Given the description of an element on the screen output the (x, y) to click on. 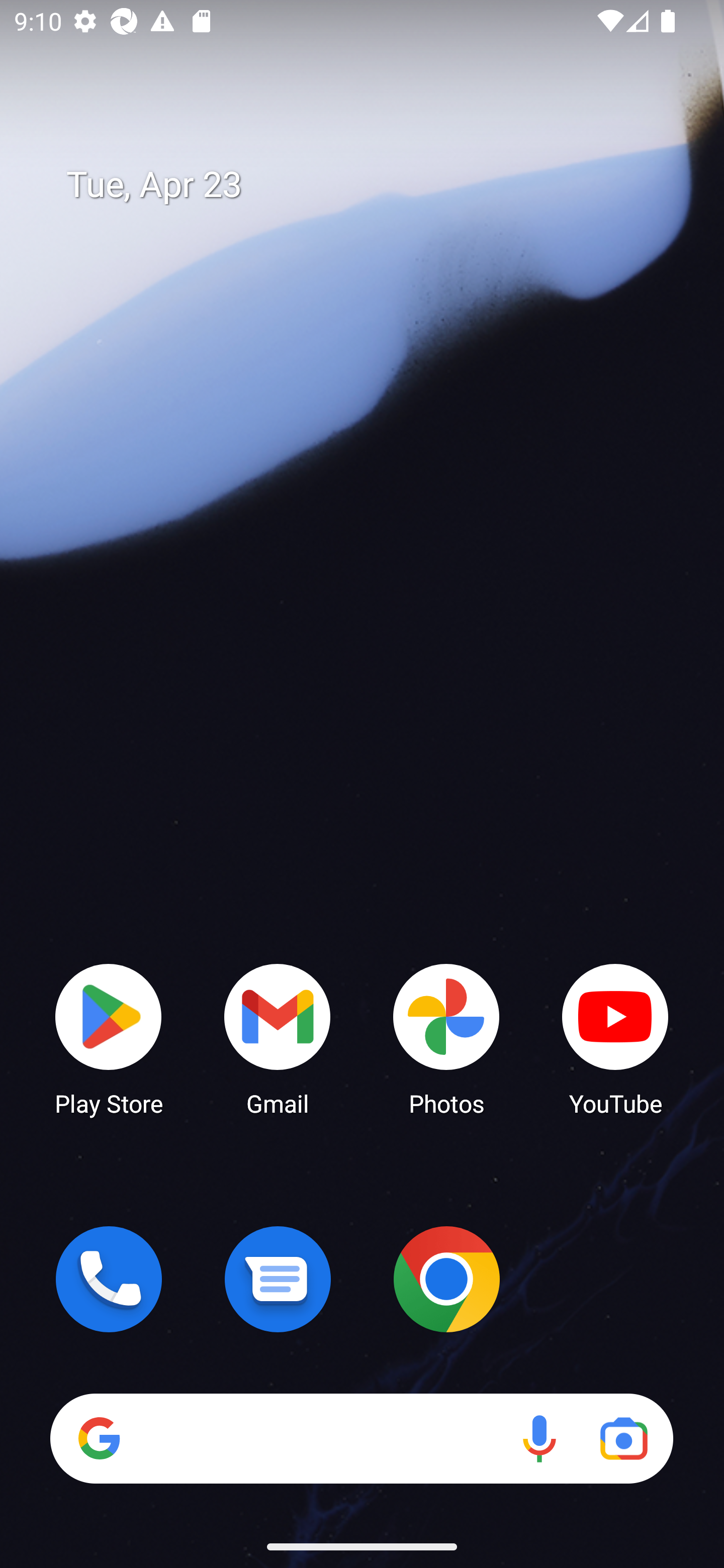
Tue, Apr 23 (375, 184)
Play Store (108, 1038)
Gmail (277, 1038)
Photos (445, 1038)
YouTube (615, 1038)
Phone (108, 1279)
Messages (277, 1279)
Chrome (446, 1279)
Search Voice search Google Lens (361, 1438)
Voice search (539, 1438)
Google Lens (623, 1438)
